Given the description of an element on the screen output the (x, y) to click on. 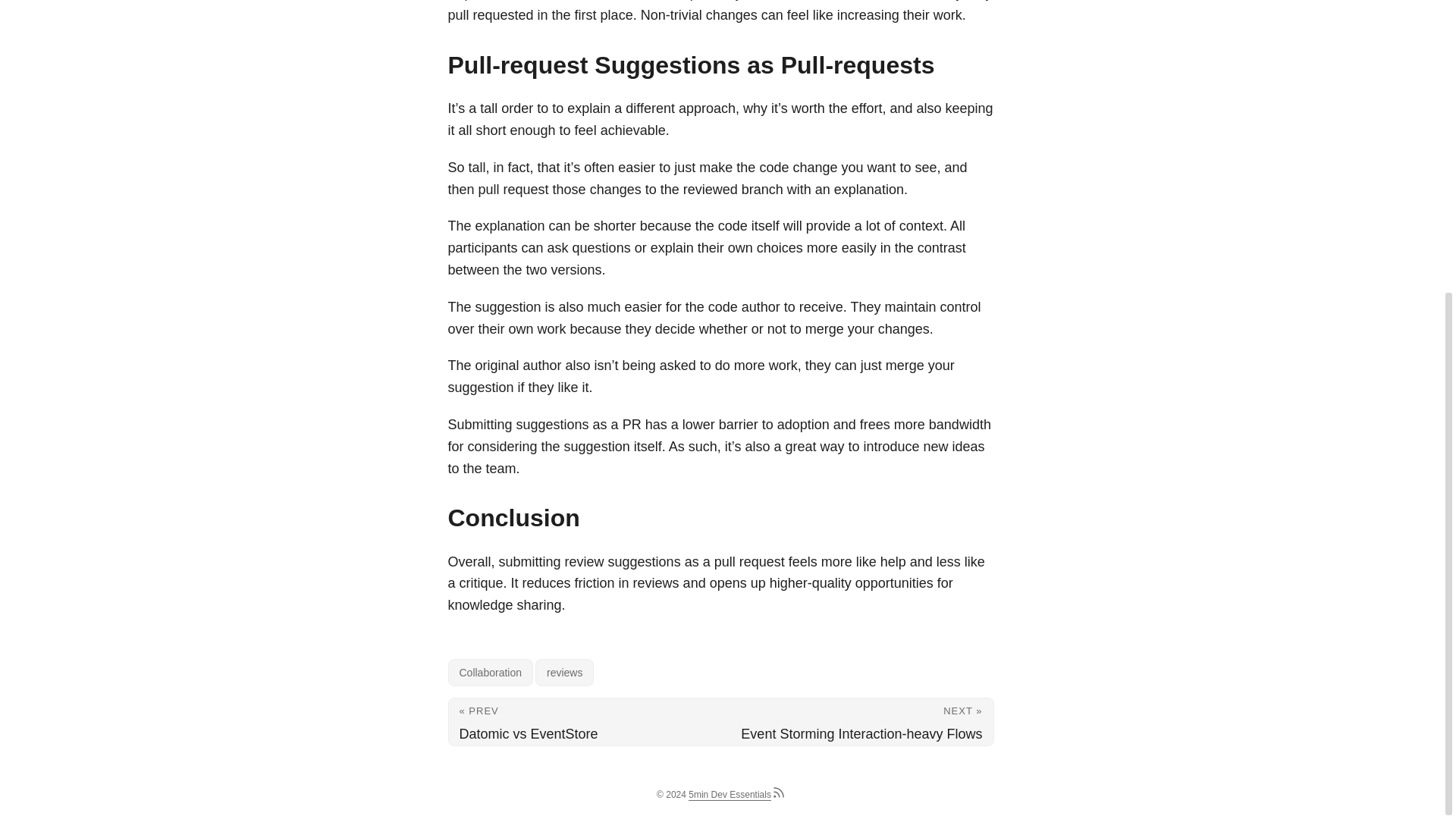
RSS (778, 796)
5min Dev Essentials (729, 794)
reviews (564, 672)
Collaboration (489, 672)
